Given the description of an element on the screen output the (x, y) to click on. 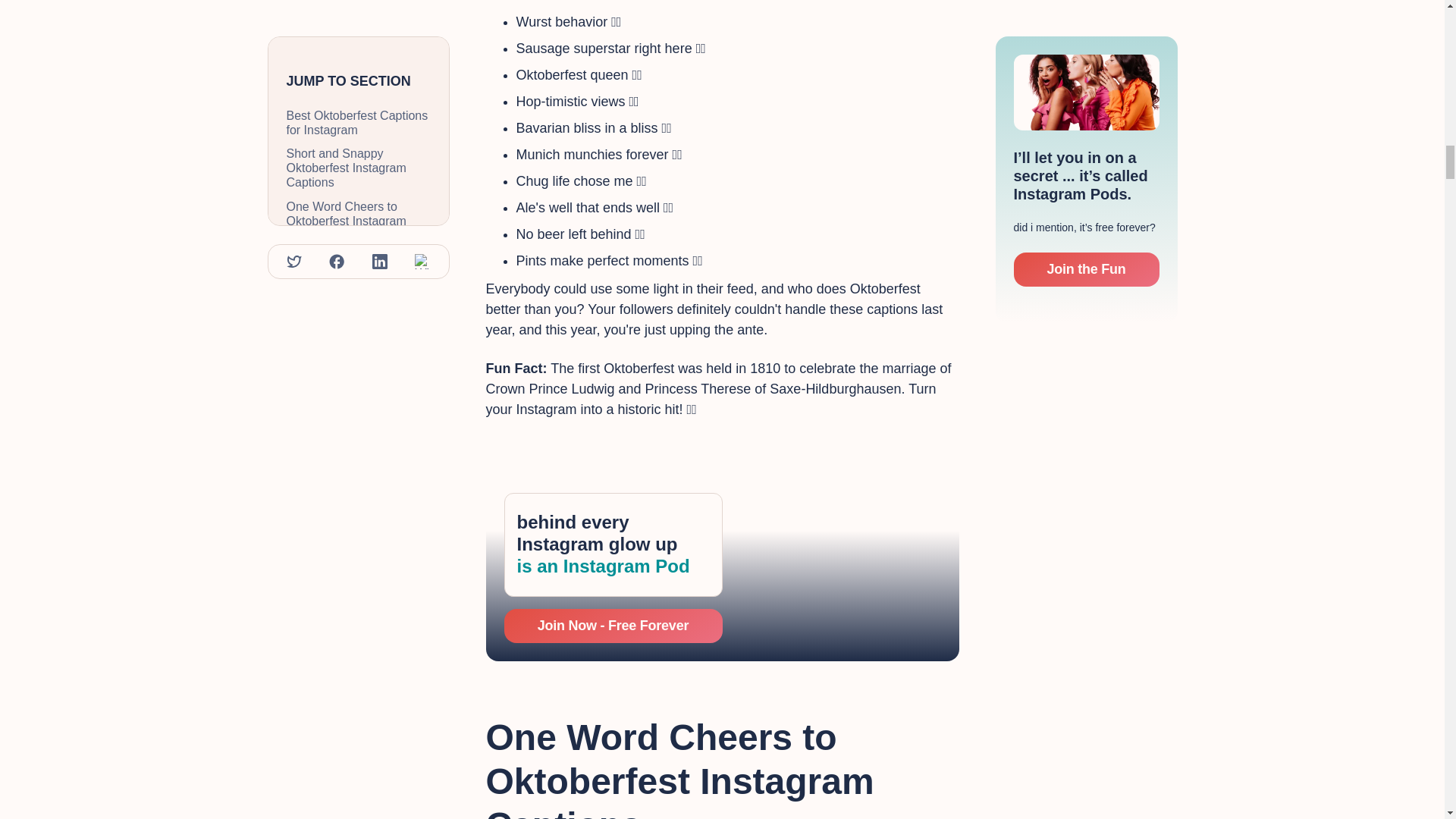
Join Now - Free Forever (612, 626)
